Given the description of an element on the screen output the (x, y) to click on. 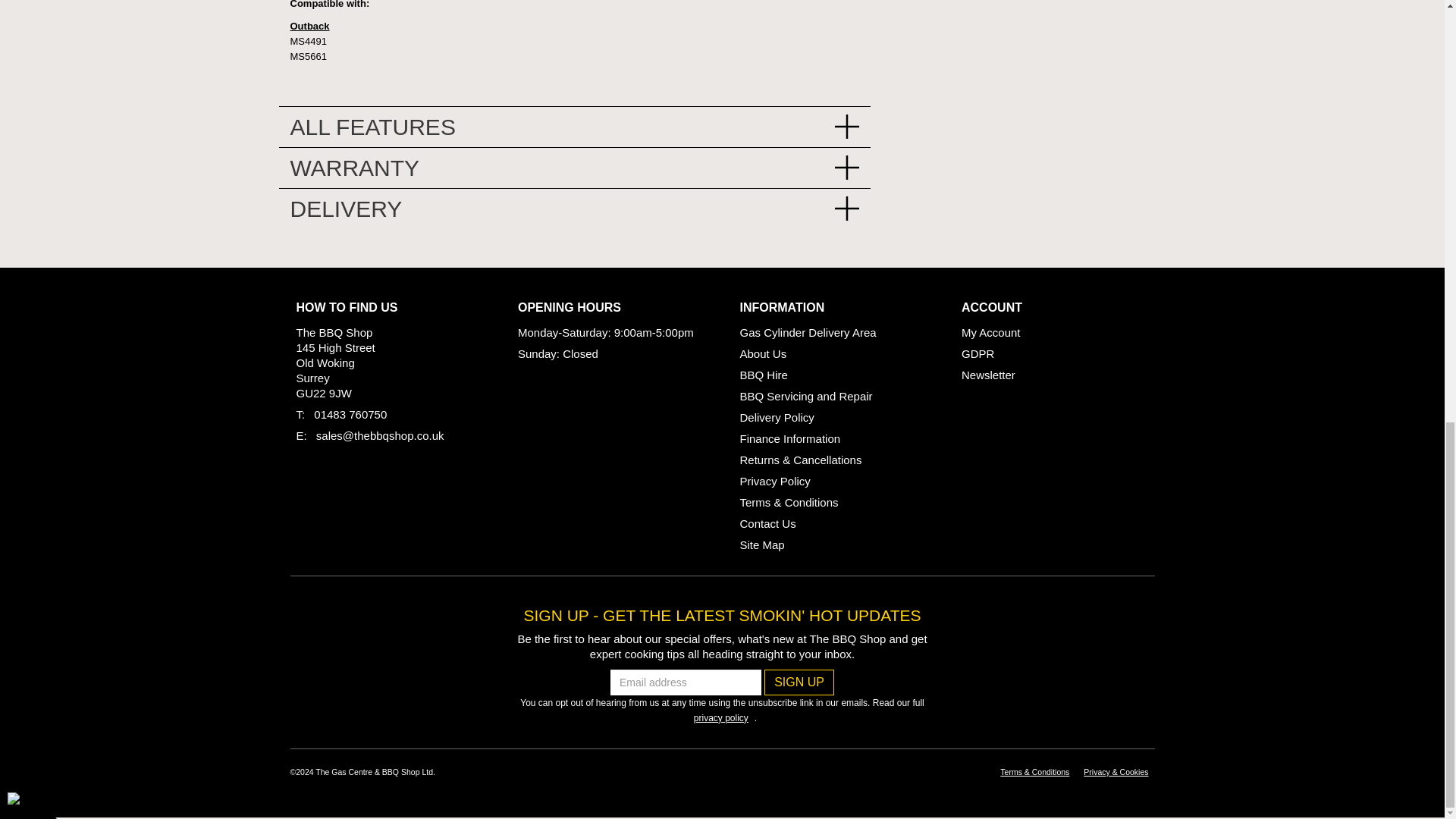
Sign up (799, 682)
